Given the description of an element on the screen output the (x, y) to click on. 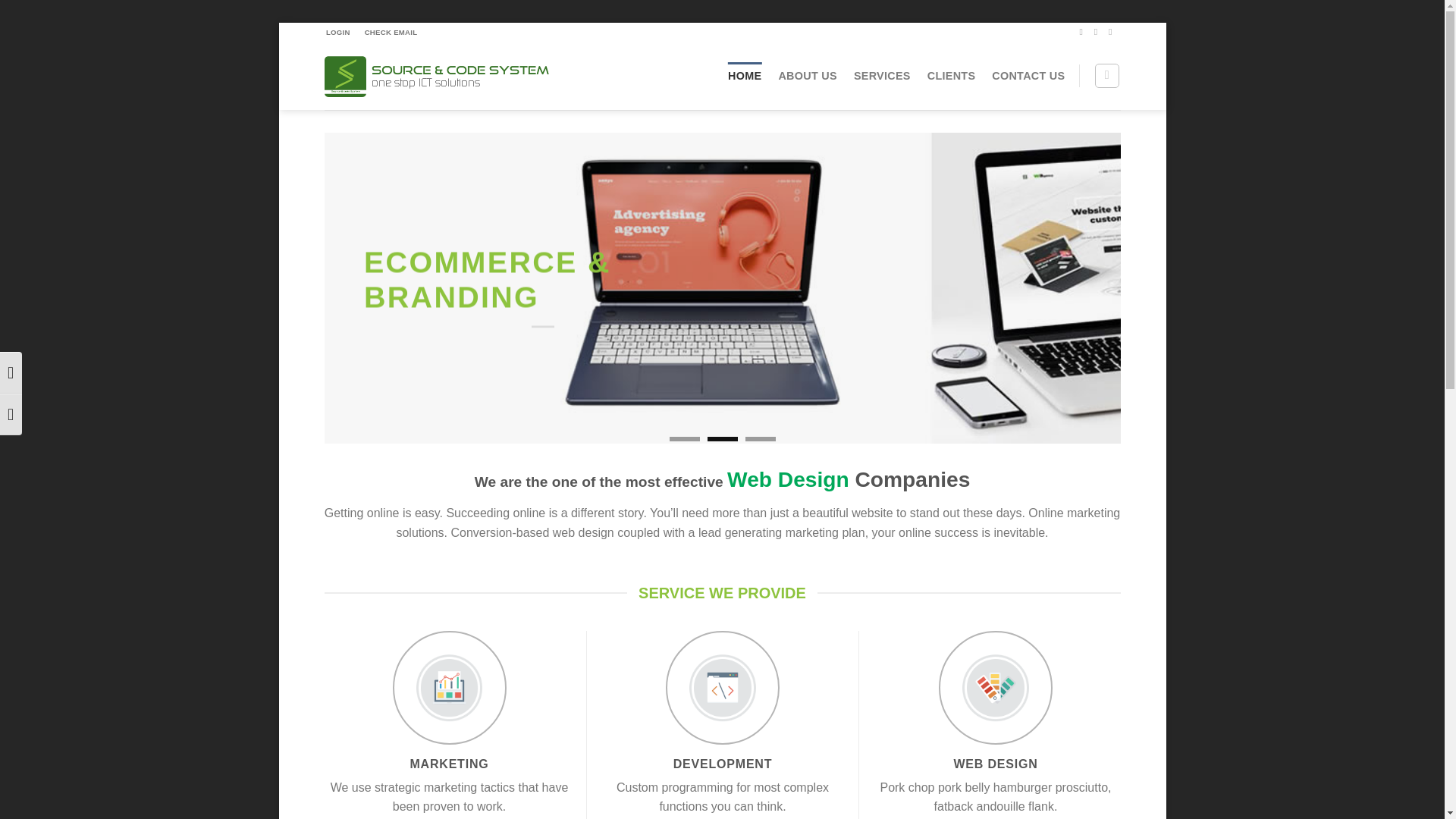
CHECK EMAIL (390, 31)
HOME (744, 75)
LOGIN (338, 31)
ABOUT US (806, 75)
